Given the description of an element on the screen output the (x, y) to click on. 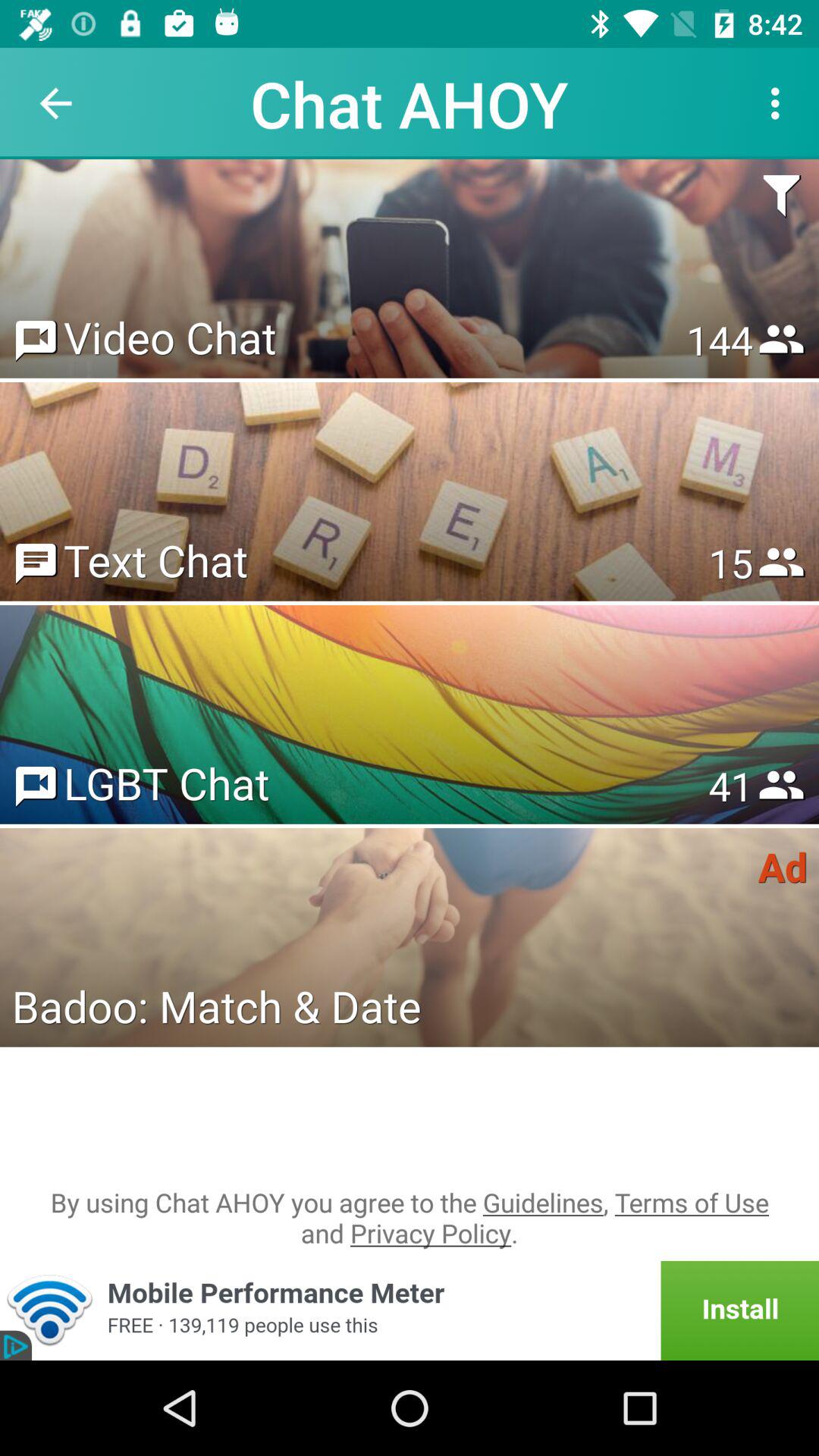
swipe until the 53 icon (730, 785)
